Given the description of an element on the screen output the (x, y) to click on. 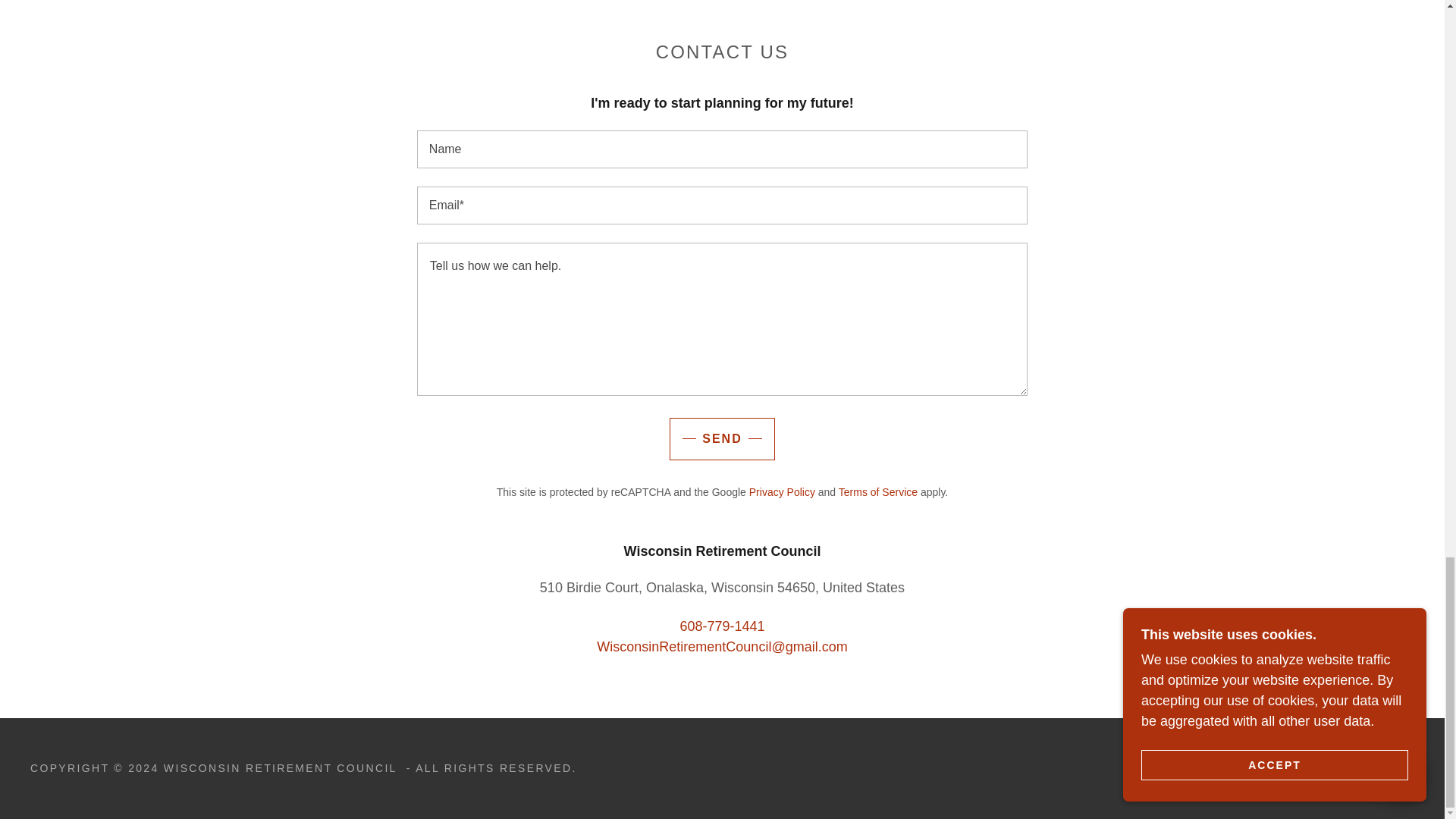
Privacy Policy (782, 491)
Terms of Service (877, 491)
GODADDY (1380, 767)
608-779-1441 (721, 626)
SEND (721, 438)
